Given the description of an element on the screen output the (x, y) to click on. 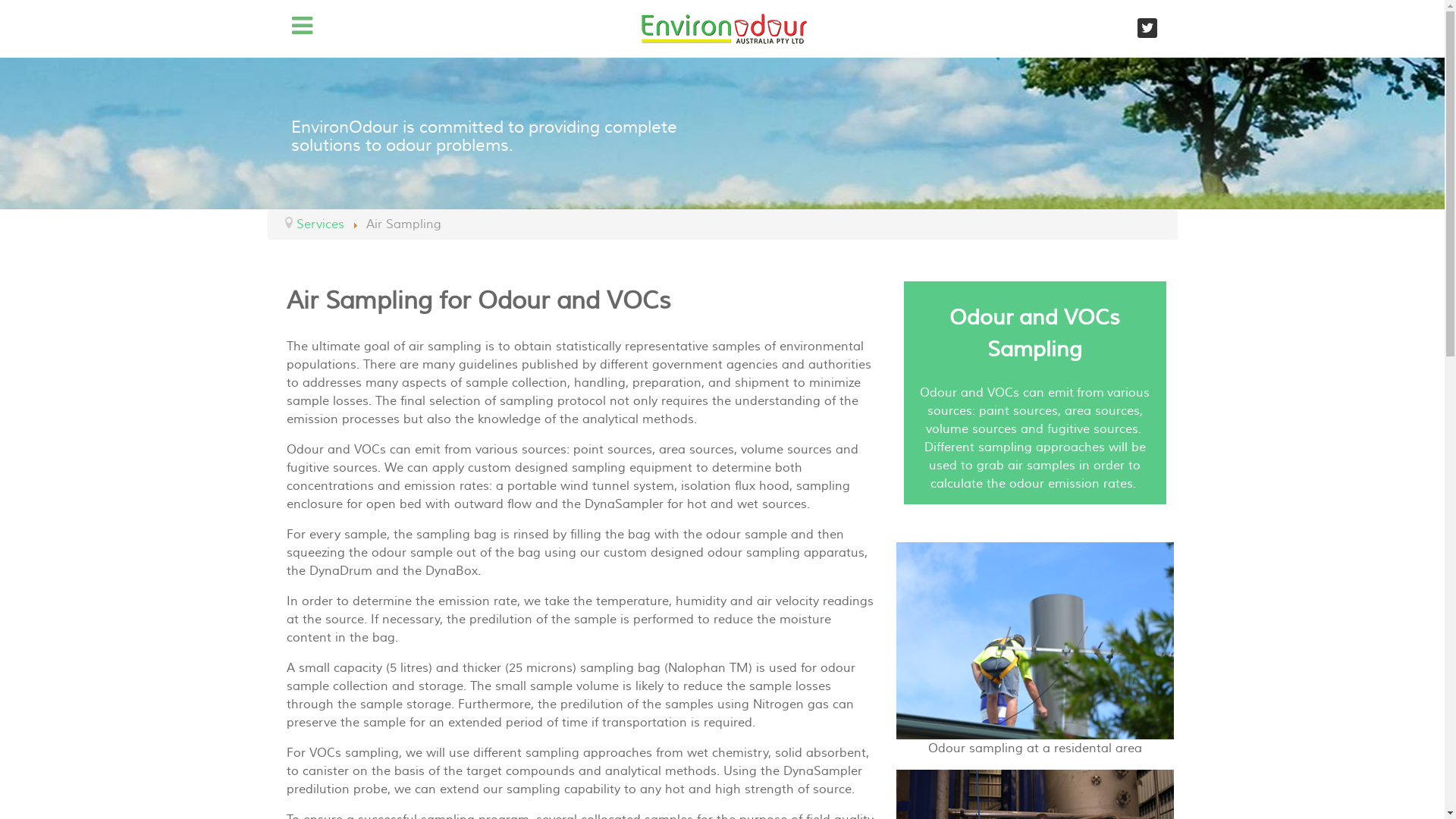
Services Element type: text (319, 224)
